Given the description of an element on the screen output the (x, y) to click on. 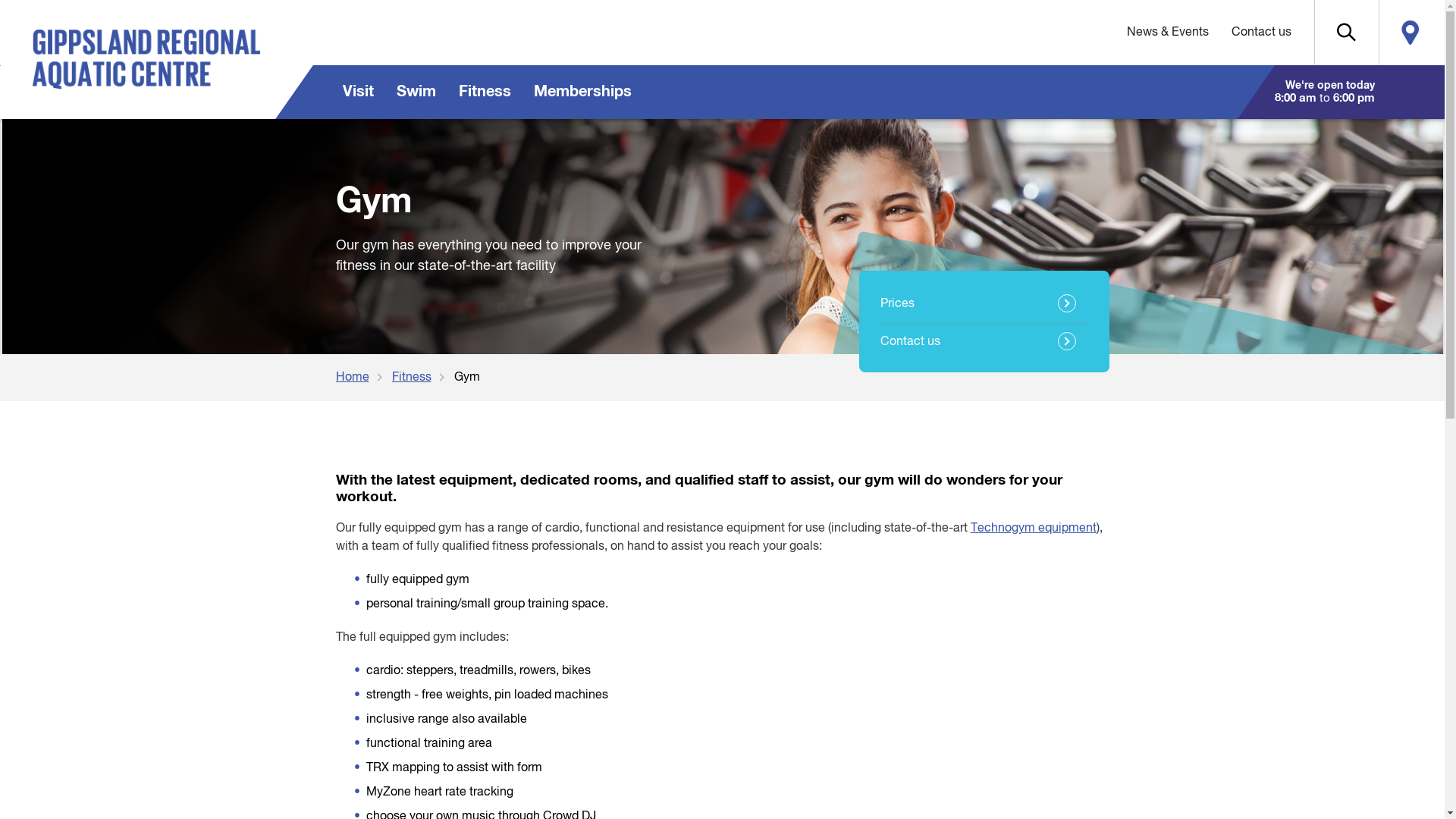
Memberships Element type: text (582, 92)
Fitness Element type: text (422, 377)
Fitness Element type: text (484, 92)
Prices Element type: text (983, 303)
Technogym equipment Element type: text (1033, 528)
Visit Element type: text (358, 92)
Contact us Element type: text (1260, 32)
Locate Element type: text (1410, 32)
Swim Element type: text (416, 92)
Contact us Element type: text (983, 341)
News & Events Element type: text (1166, 32)
Home Element type: text (363, 377)
